Given the description of an element on the screen output the (x, y) to click on. 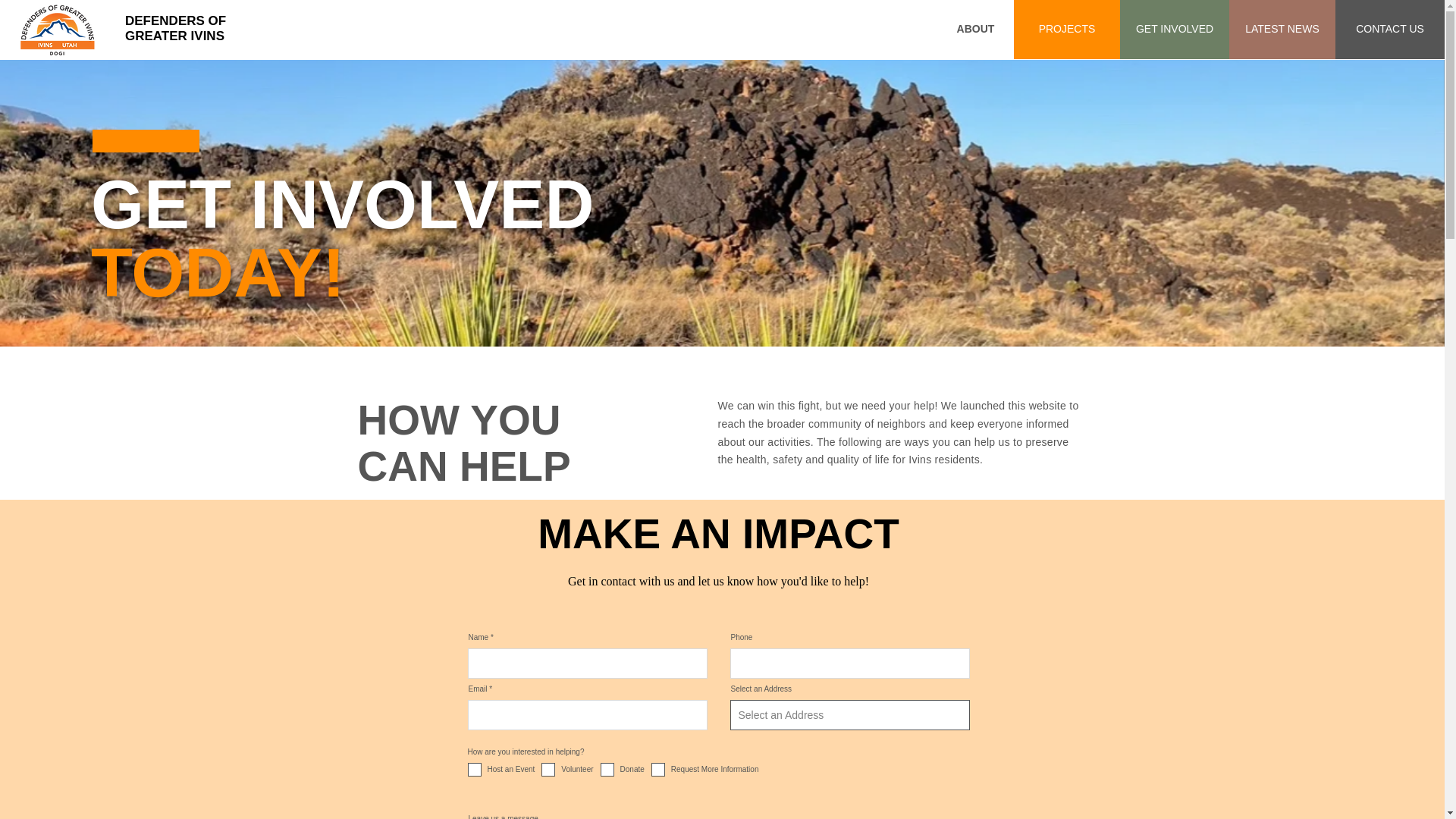
ABOUT (975, 29)
LATEST NEWS (175, 28)
GET INVOLVED (1281, 29)
PROJECTS (1173, 29)
